Given the description of an element on the screen output the (x, y) to click on. 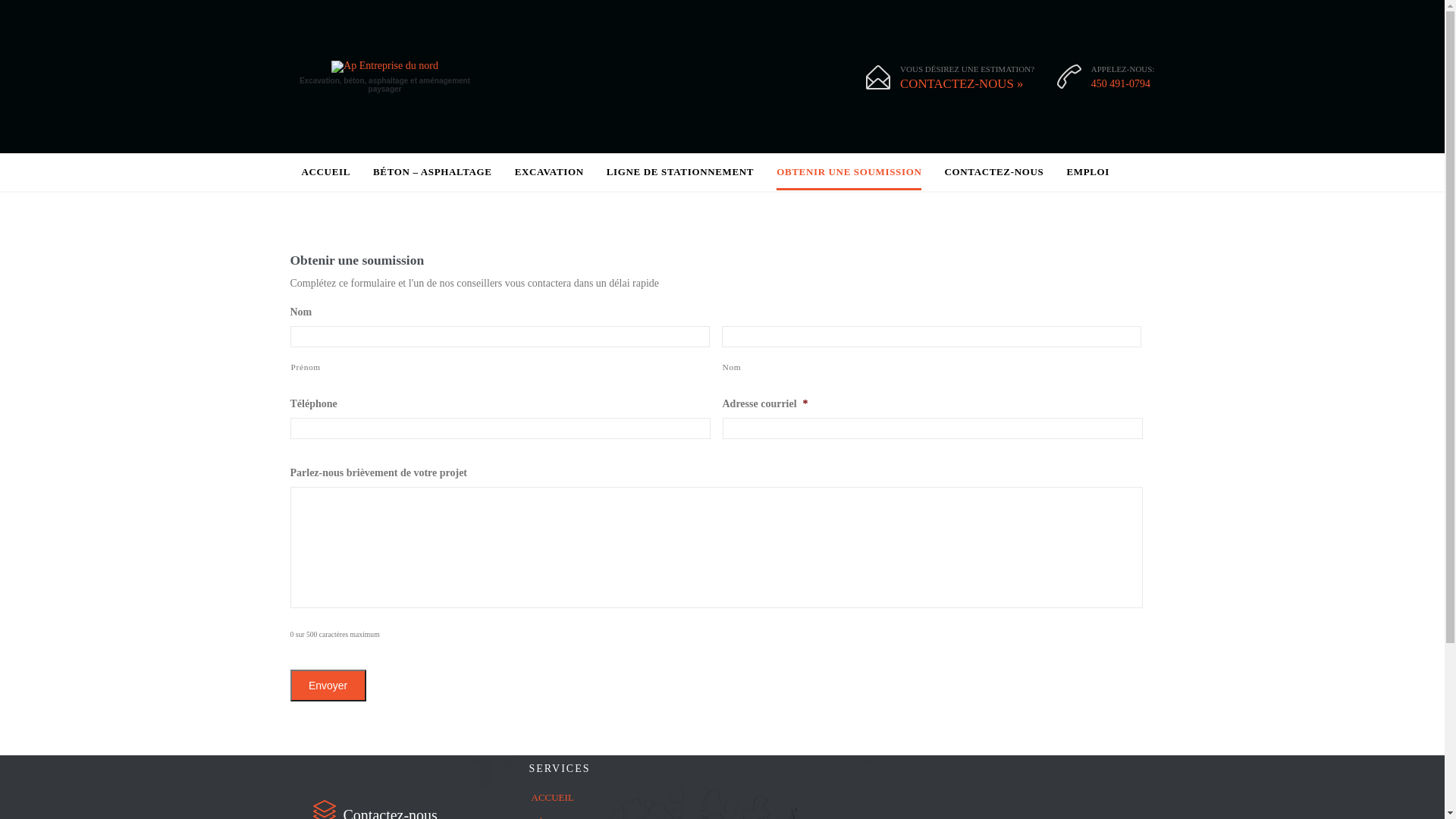
EXCAVATION Element type: text (548, 173)
LIGNE DE STATIONNEMENT Element type: text (679, 173)
Skip to content Element type: text (721, 153)
EMPLOI Element type: text (1087, 173)
Ap Entreprise du nord Element type: hover (384, 66)
Envoyer Element type: text (327, 685)
OBTENIR UNE SOUMISSION Element type: text (848, 173)
ACCUEIL Element type: text (326, 173)
CONTACTEZ-NOUS Element type: text (993, 173)
ACCUEIL Element type: text (614, 798)
450 491-0794 Element type: text (1120, 82)
